Given the description of an element on the screen output the (x, y) to click on. 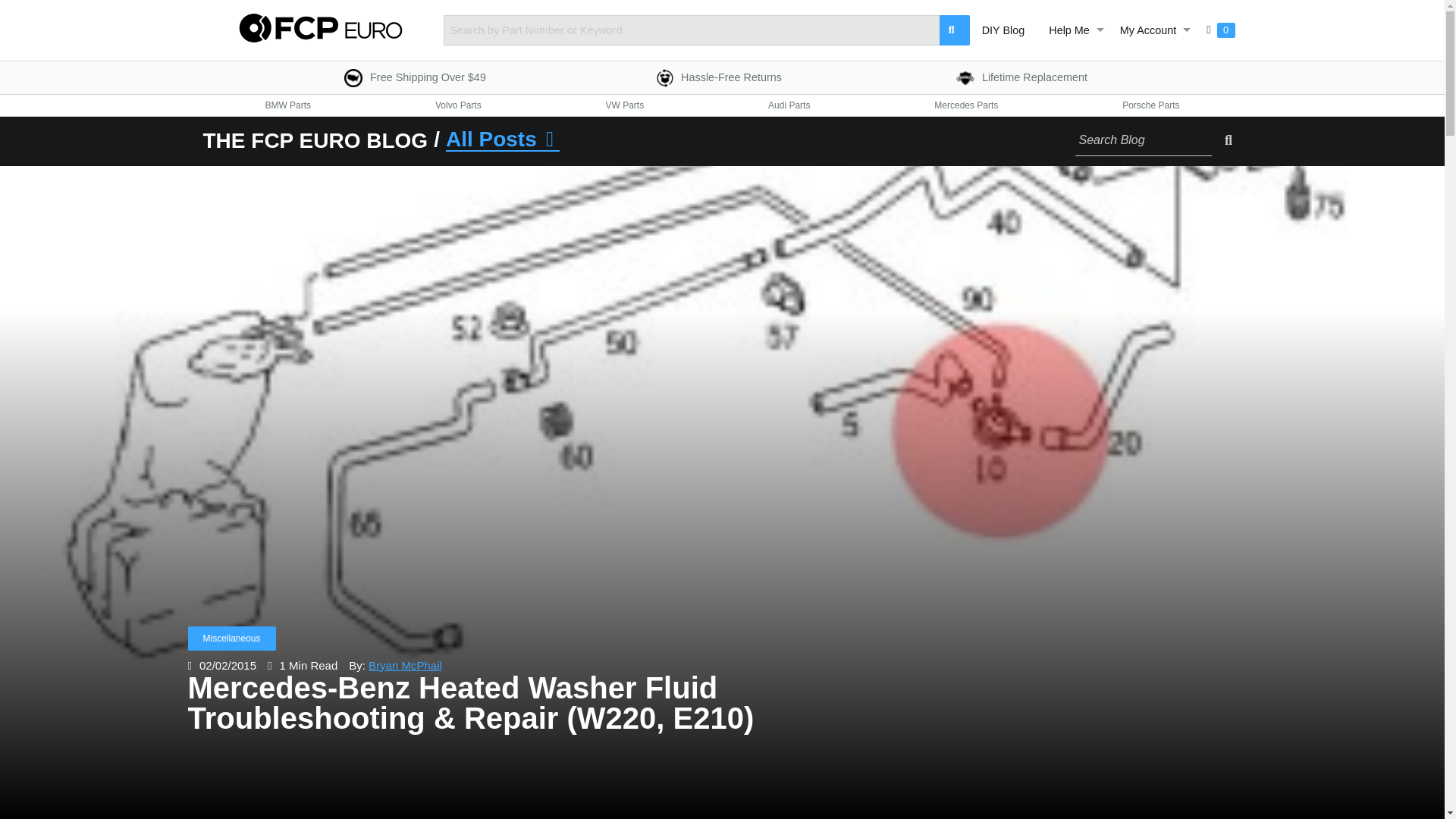
Help Me (1072, 30)
0 (1219, 29)
DIY Blog (1026, 77)
My Account (722, 77)
BMW Parts (1002, 30)
